Given the description of an element on the screen output the (x, y) to click on. 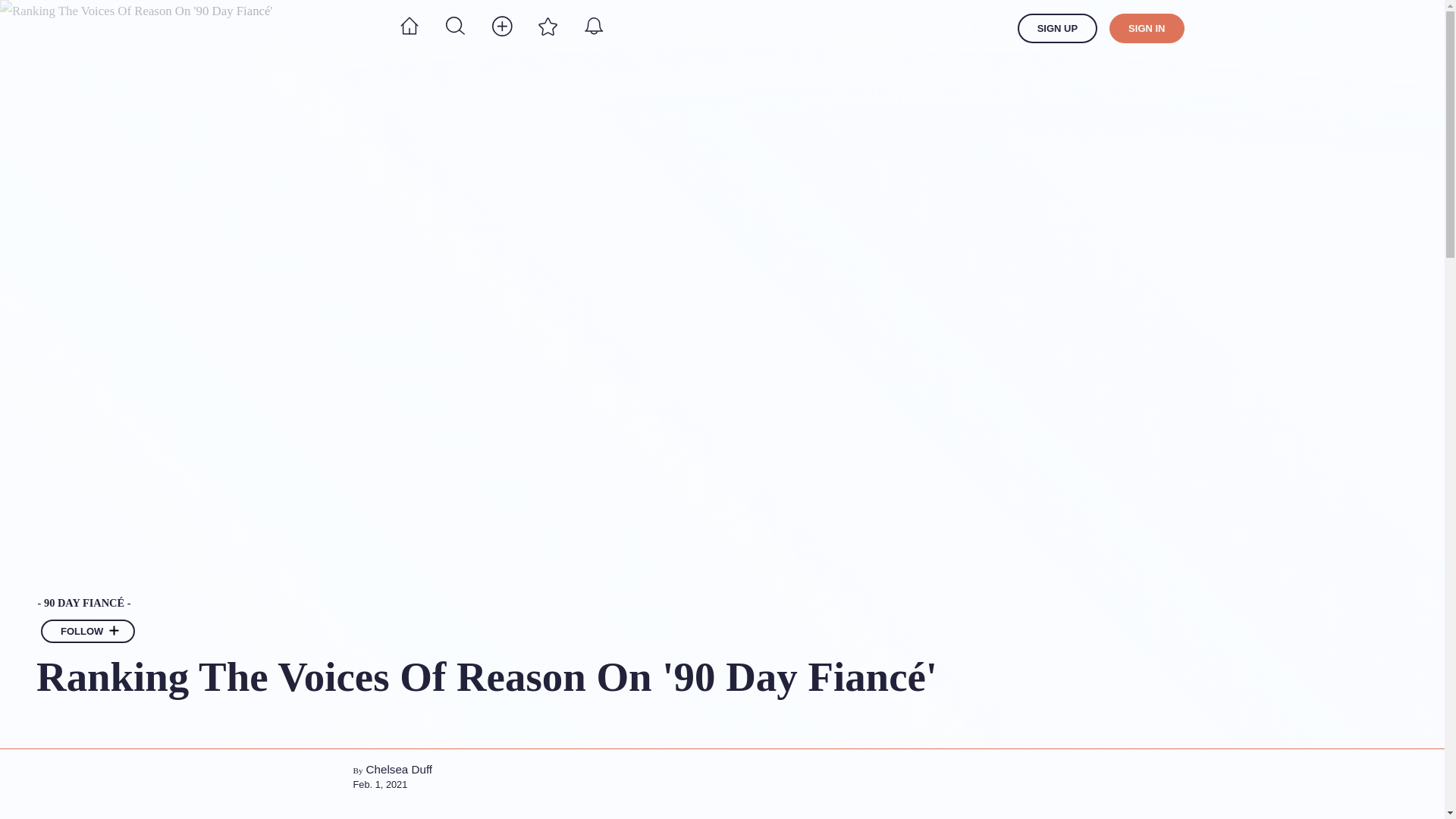
SIGN UP (1057, 28)
Dipp (317, 28)
FOLLOW (87, 631)
SIGN IN (1146, 28)
Chelsea Duff (399, 768)
